Given the description of an element on the screen output the (x, y) to click on. 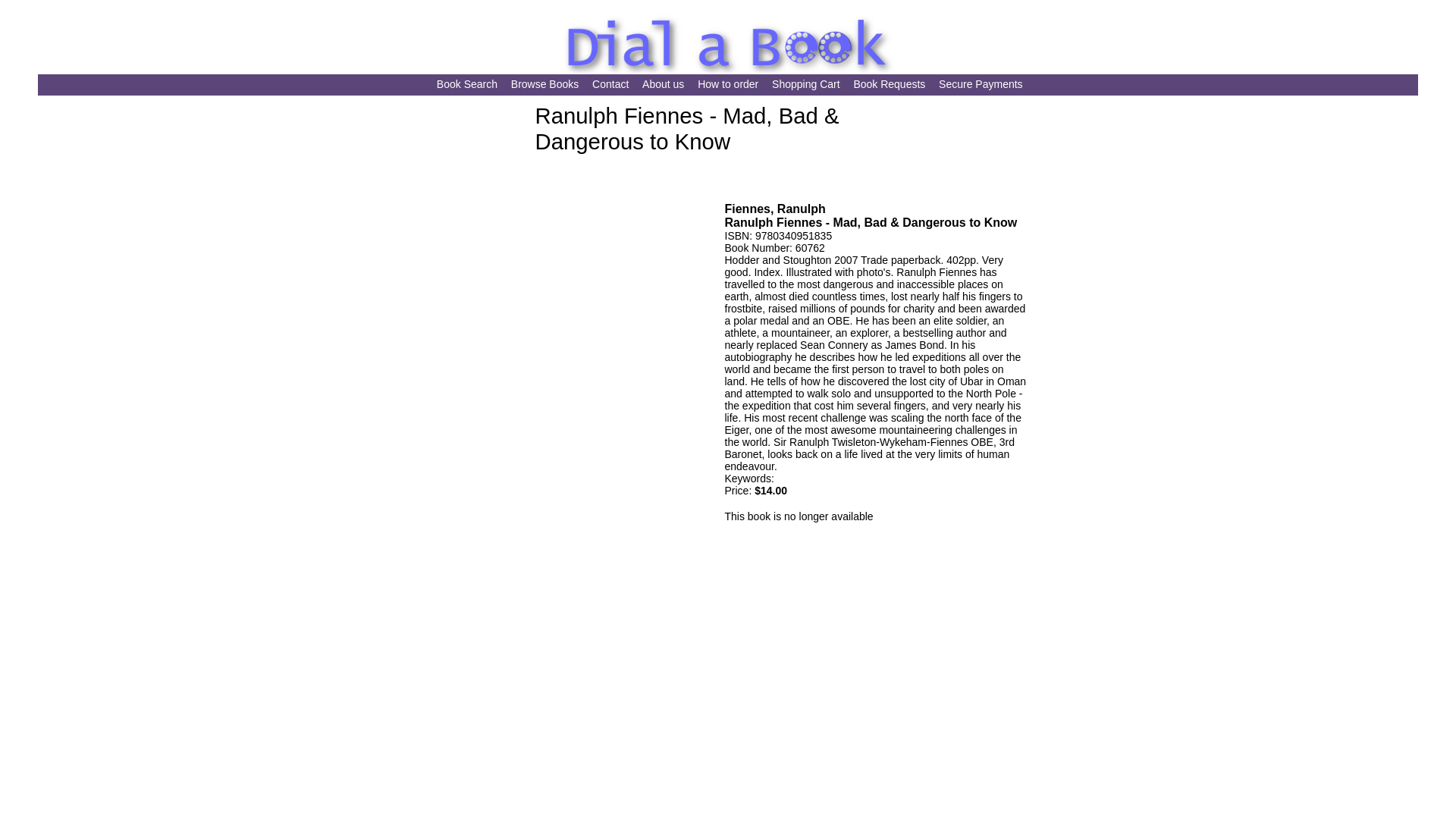
Shopping Cart Element type: text (805, 84)
Book Search Element type: text (466, 84)
How to order Element type: text (727, 84)
About us Element type: text (663, 84)
Browse Books Element type: text (544, 84)
Secure Payments Element type: text (980, 84)
Book Requests Element type: text (889, 84)
Contact Element type: text (610, 84)
